Given the description of an element on the screen output the (x, y) to click on. 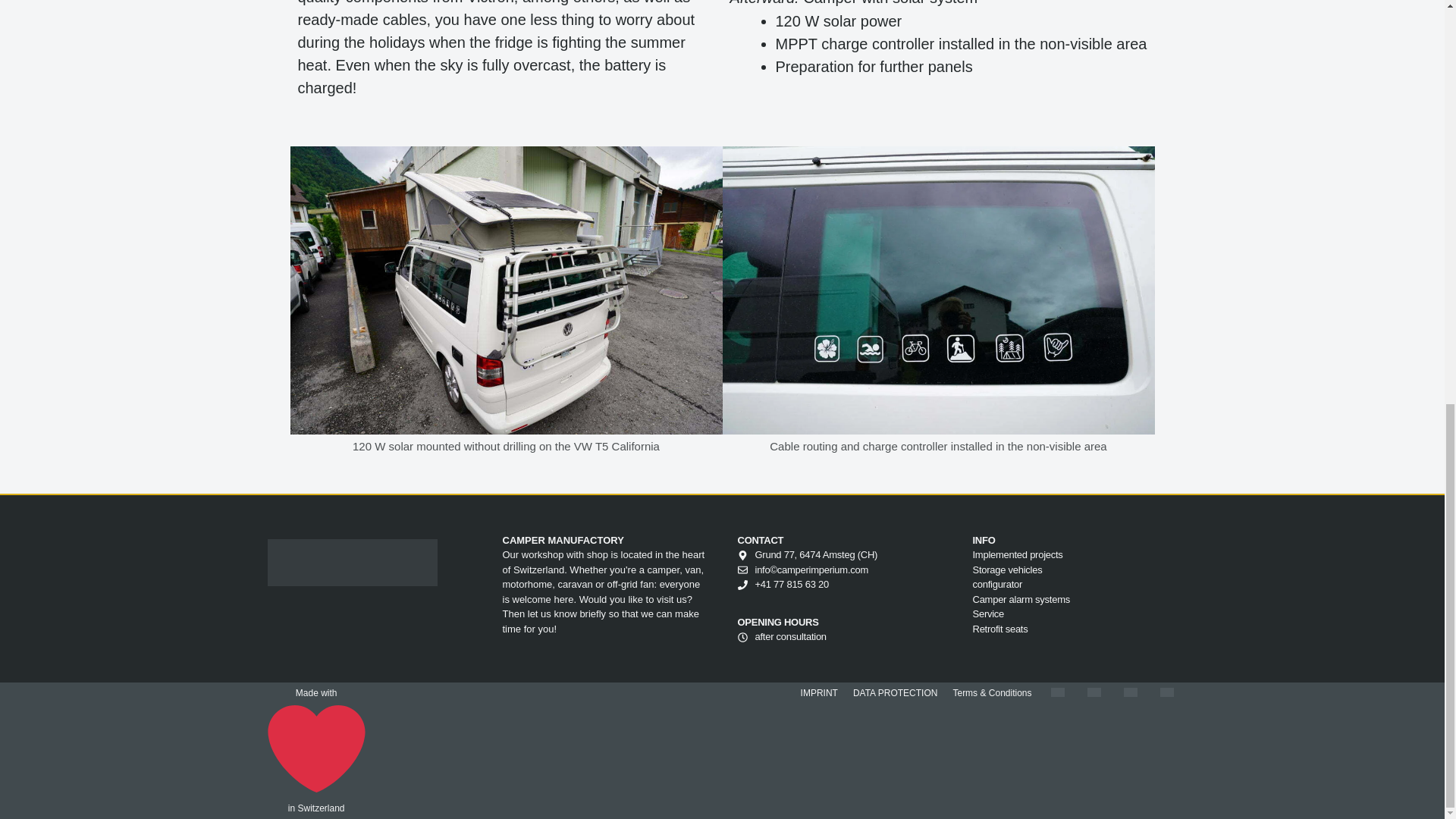
Deutsch (1057, 691)
Italiano (1130, 691)
Scroll back to top (1406, 741)
CONTACT (759, 540)
